Given the description of an element on the screen output the (x, y) to click on. 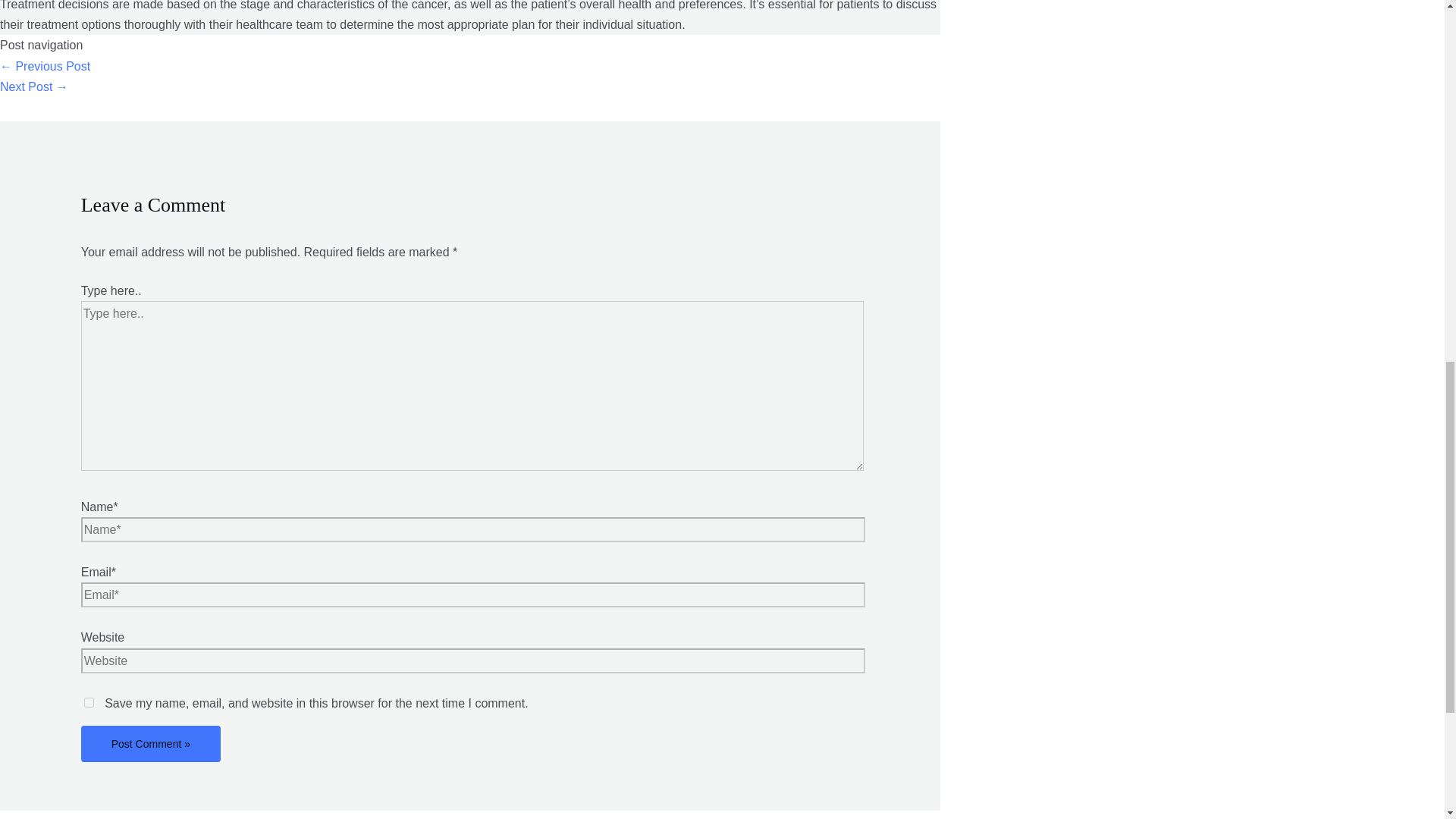
yes (89, 702)
